Given the description of an element on the screen output the (x, y) to click on. 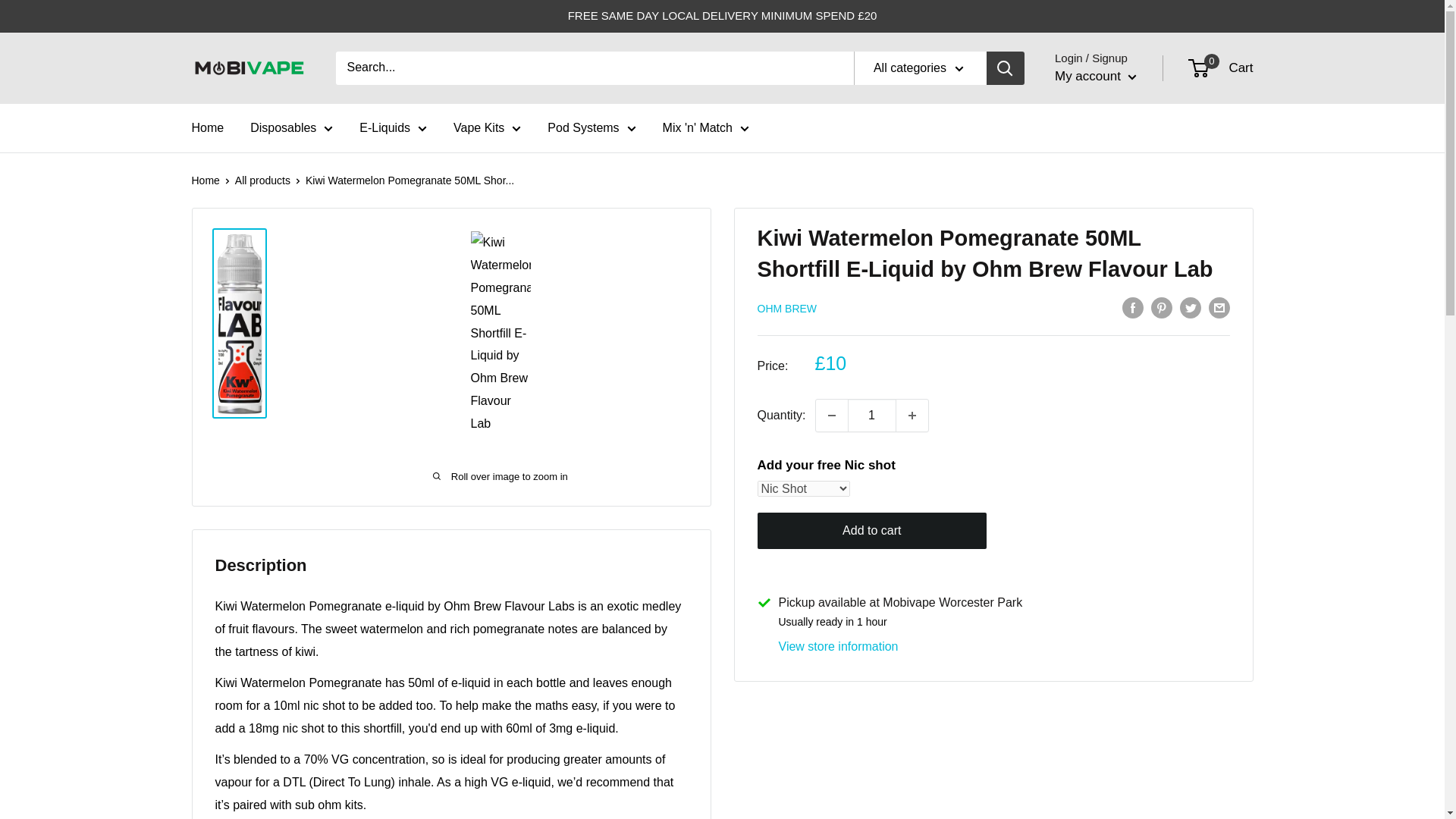
Increase quantity by 1 (912, 415)
1 (871, 415)
Decrease quantity by 1 (831, 415)
